Given the description of an element on the screen output the (x, y) to click on. 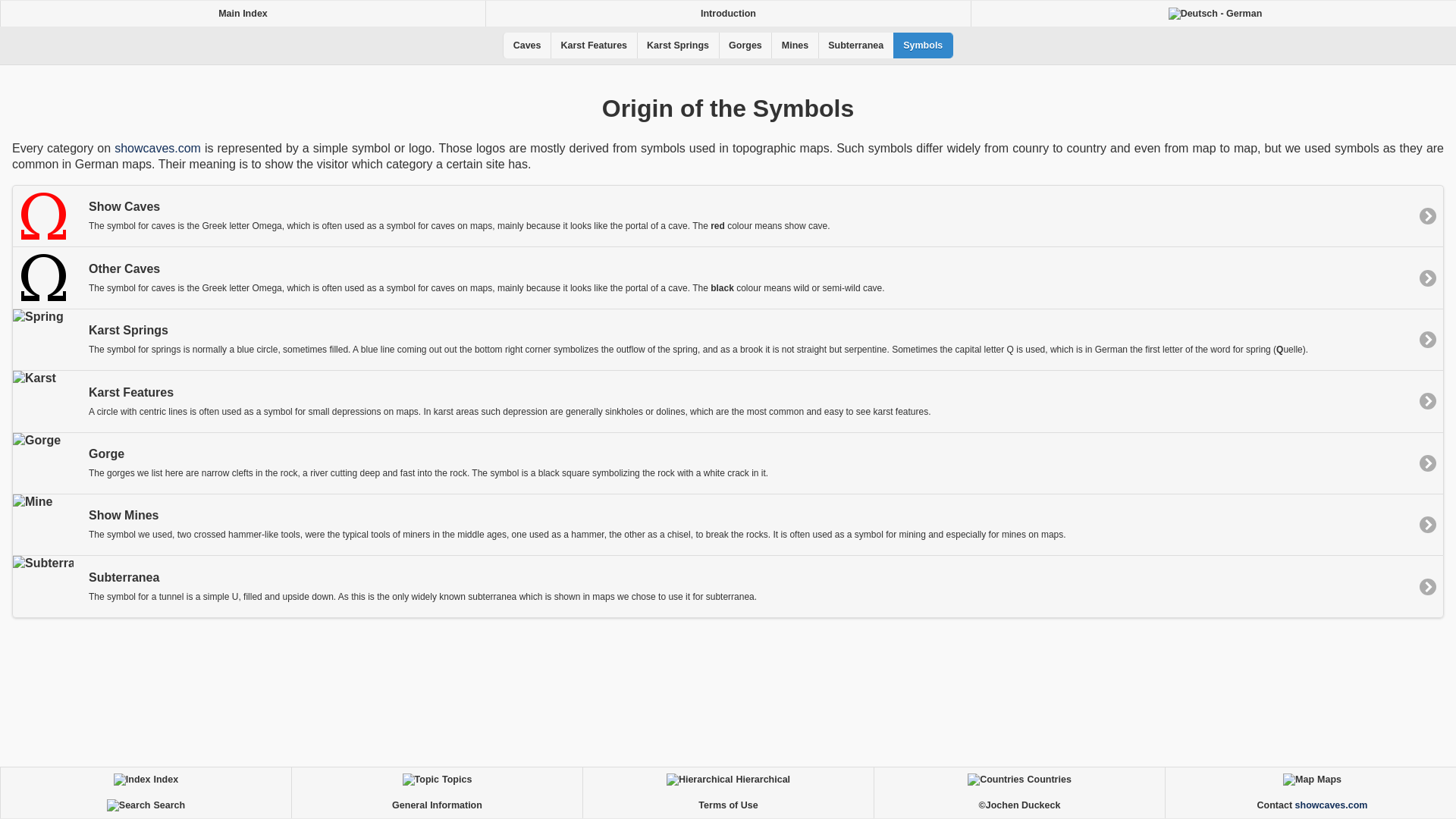
Karst Springs (678, 45)
Subterranea (855, 45)
Topics (436, 780)
Main Index (242, 13)
Karst Features (593, 45)
Index (145, 780)
Introduction (727, 13)
Gorges (745, 45)
Symbols (923, 45)
